Given the description of an element on the screen output the (x, y) to click on. 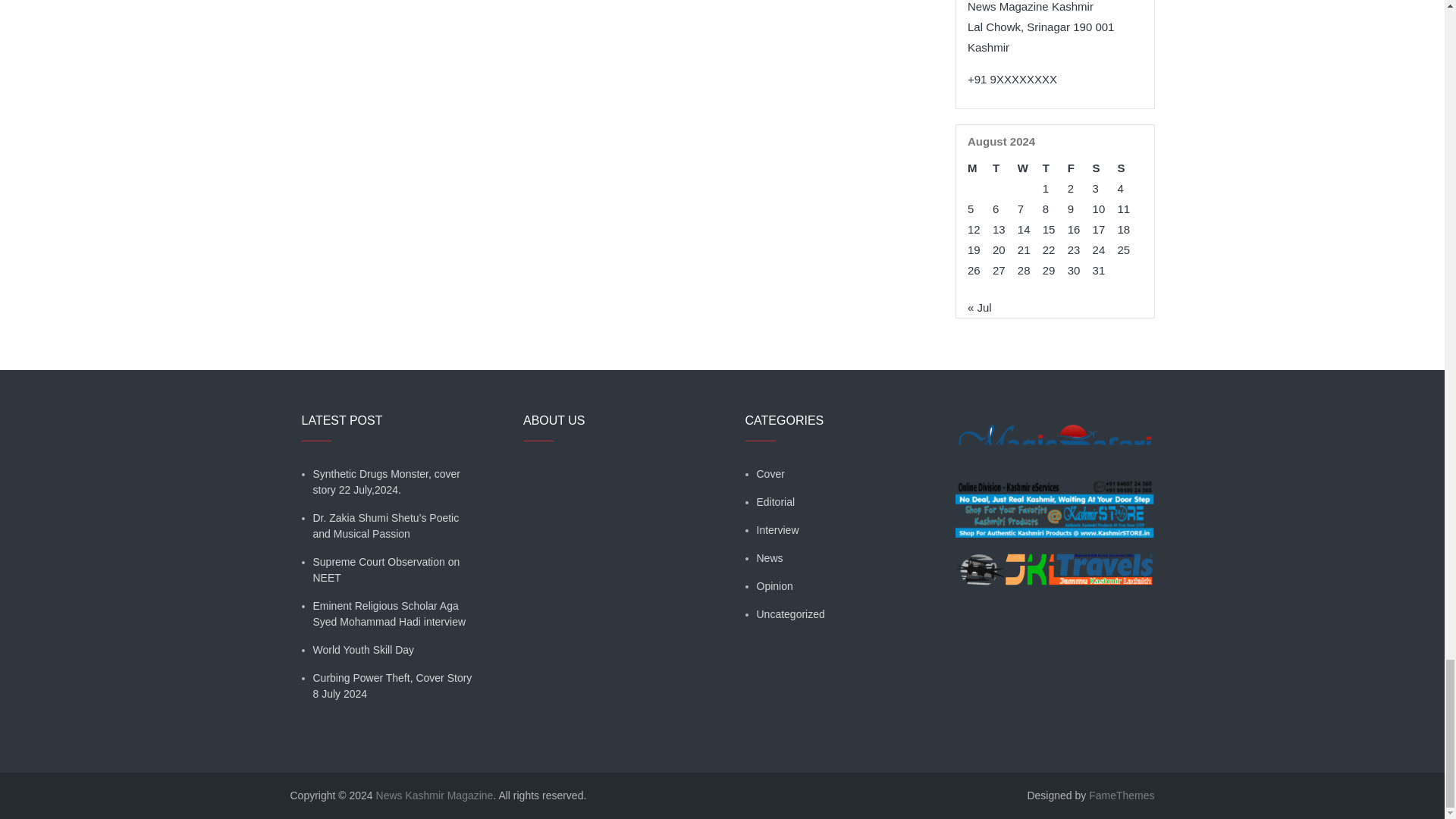
News Kashmir Magazine (434, 795)
Saturday (1105, 168)
262x220 Ads (1054, 435)
Thursday (1054, 168)
Sunday (1130, 168)
Wednesday (1029, 168)
Tuesday (1004, 168)
Monday (980, 168)
262x220 Ads (1054, 560)
Friday (1080, 168)
262x220 Ads (1054, 500)
